Given the description of an element on the screen output the (x, y) to click on. 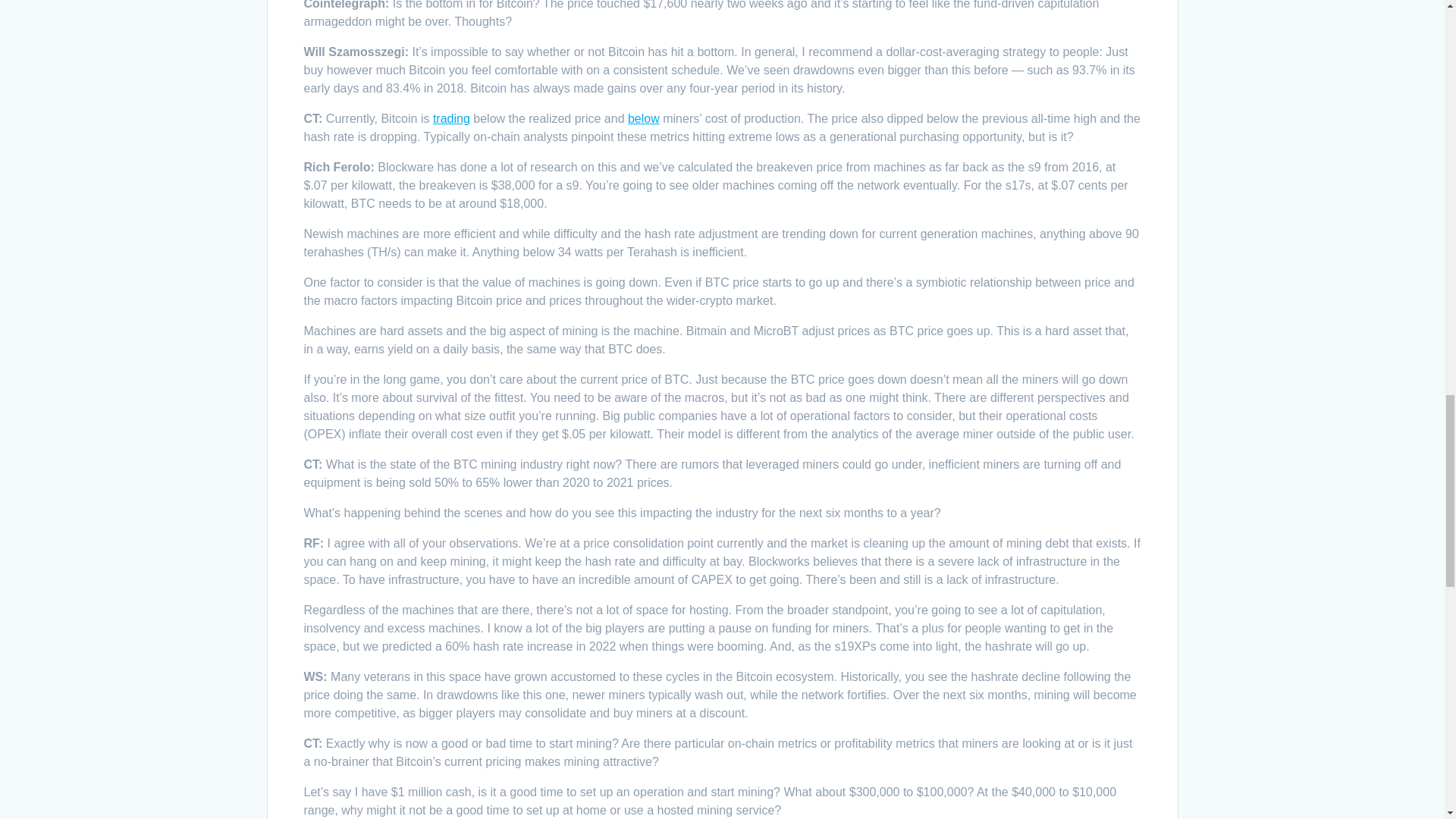
below (643, 118)
trading (451, 118)
